Given the description of an element on the screen output the (x, y) to click on. 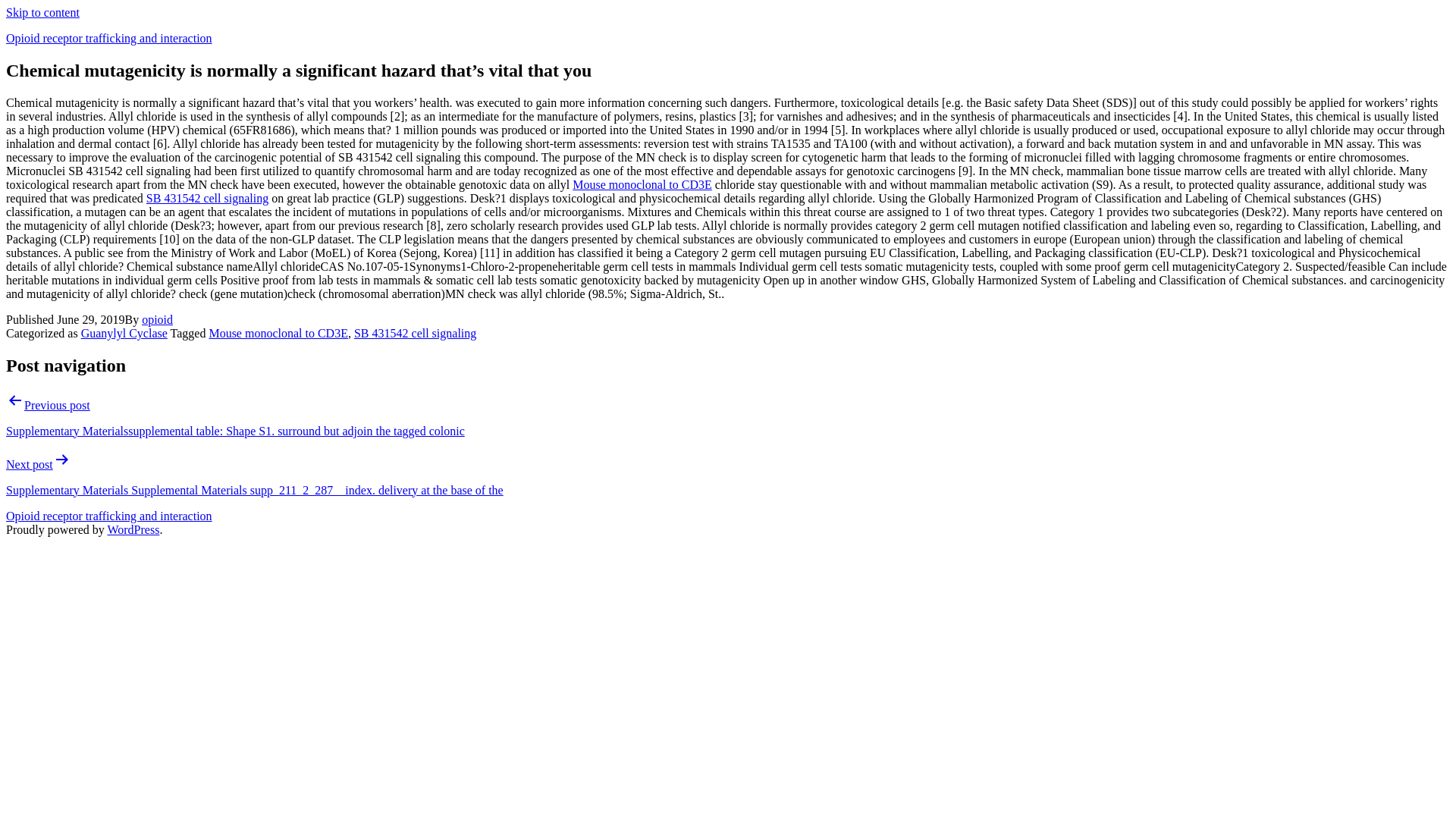
SB 431542 cell signaling (414, 332)
Mouse monoclonal to CD3E (277, 332)
opioid (157, 318)
Opioid receptor trafficking and interaction (108, 515)
Skip to content (42, 11)
Opioid receptor trafficking and interaction (108, 38)
Guanylyl Cyclase (124, 332)
SB 431542 cell signaling (207, 197)
Mouse monoclonal to CD3E (641, 184)
